Given the description of an element on the screen output the (x, y) to click on. 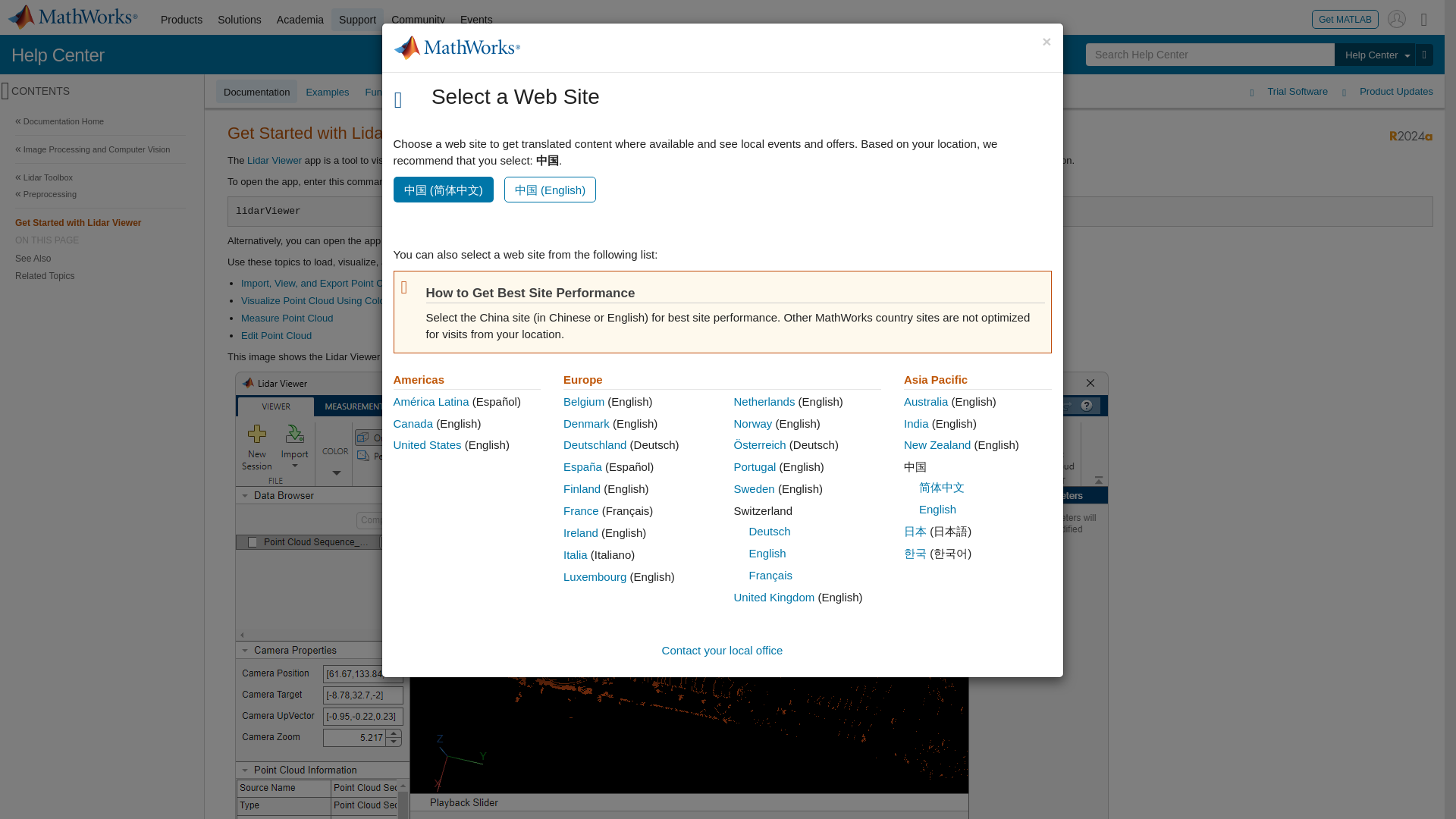
Solutions (239, 19)
ON THIS PAGE (100, 240)
Sign In to Your MathWorks Account (1396, 18)
Academia (300, 19)
Get MATLAB (1344, 18)
Community (418, 19)
Products (180, 19)
Get Started with Lidar Viewer (100, 221)
Support (357, 19)
Events (476, 19)
Matrix Menu (1423, 18)
